Given the description of an element on the screen output the (x, y) to click on. 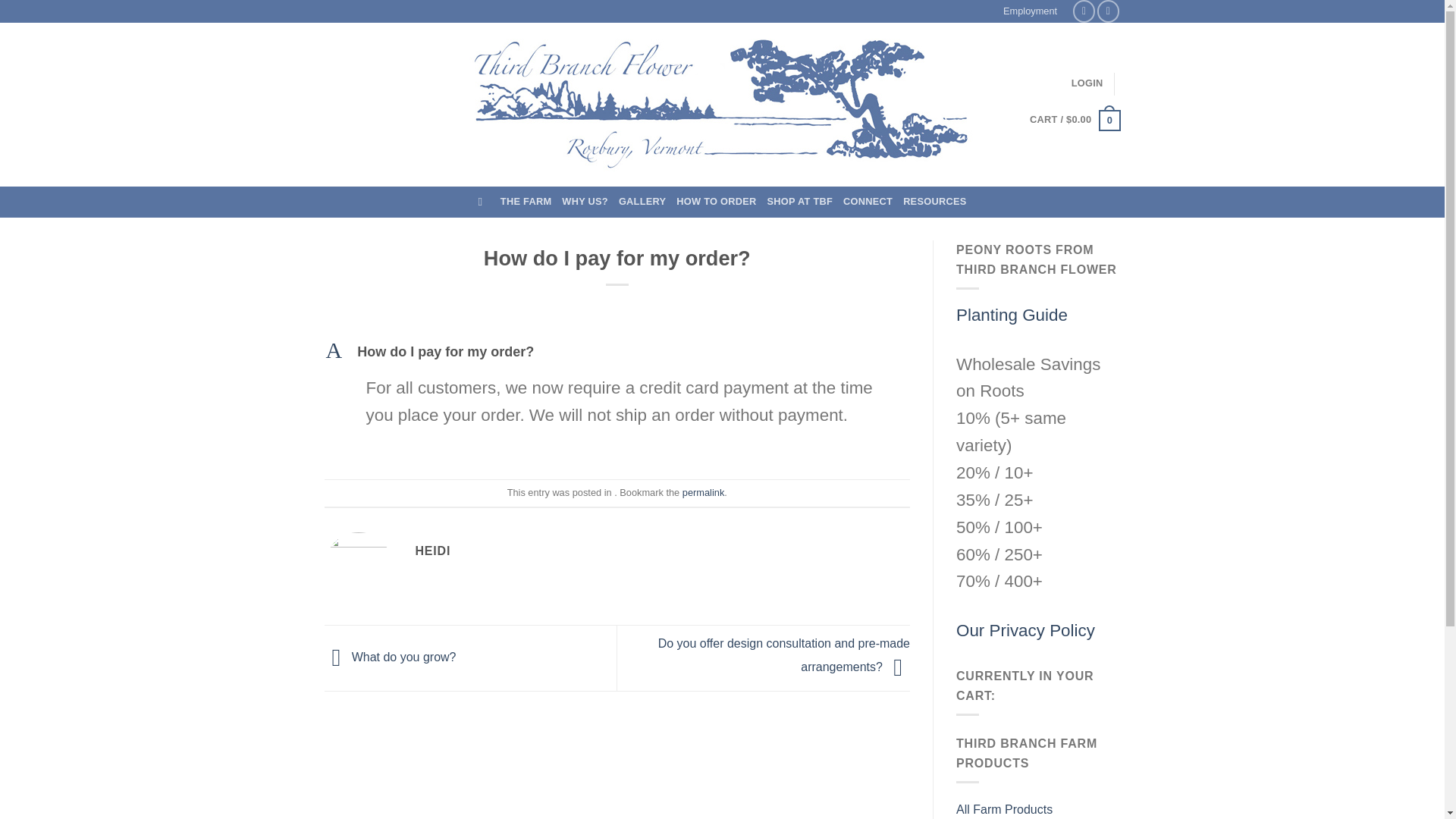
WHY US? (585, 201)
Our Privacy Policy (1025, 629)
THE FARM (525, 201)
Permalink to How do I pay for my order? (702, 491)
GALLERY (641, 201)
LOGIN (1087, 82)
permalink (617, 351)
Third Branch Flower (702, 491)
Planting Guide (722, 104)
